Given the description of an element on the screen output the (x, y) to click on. 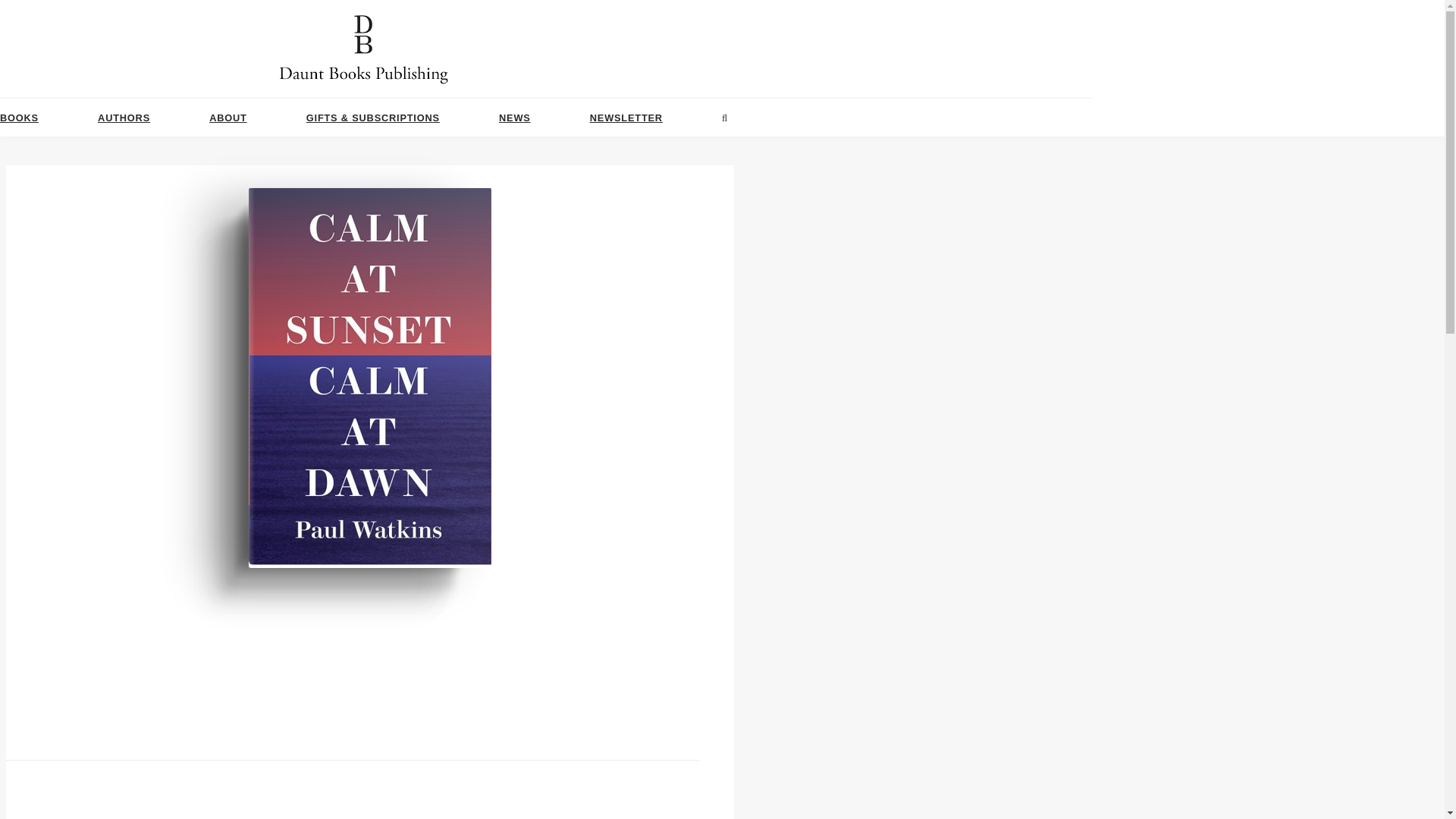
BOOKS (19, 117)
NEWS (515, 117)
ABOUT (228, 117)
AUTHORS (123, 117)
NEWSLETTER (625, 117)
